Given the description of an element on the screen output the (x, y) to click on. 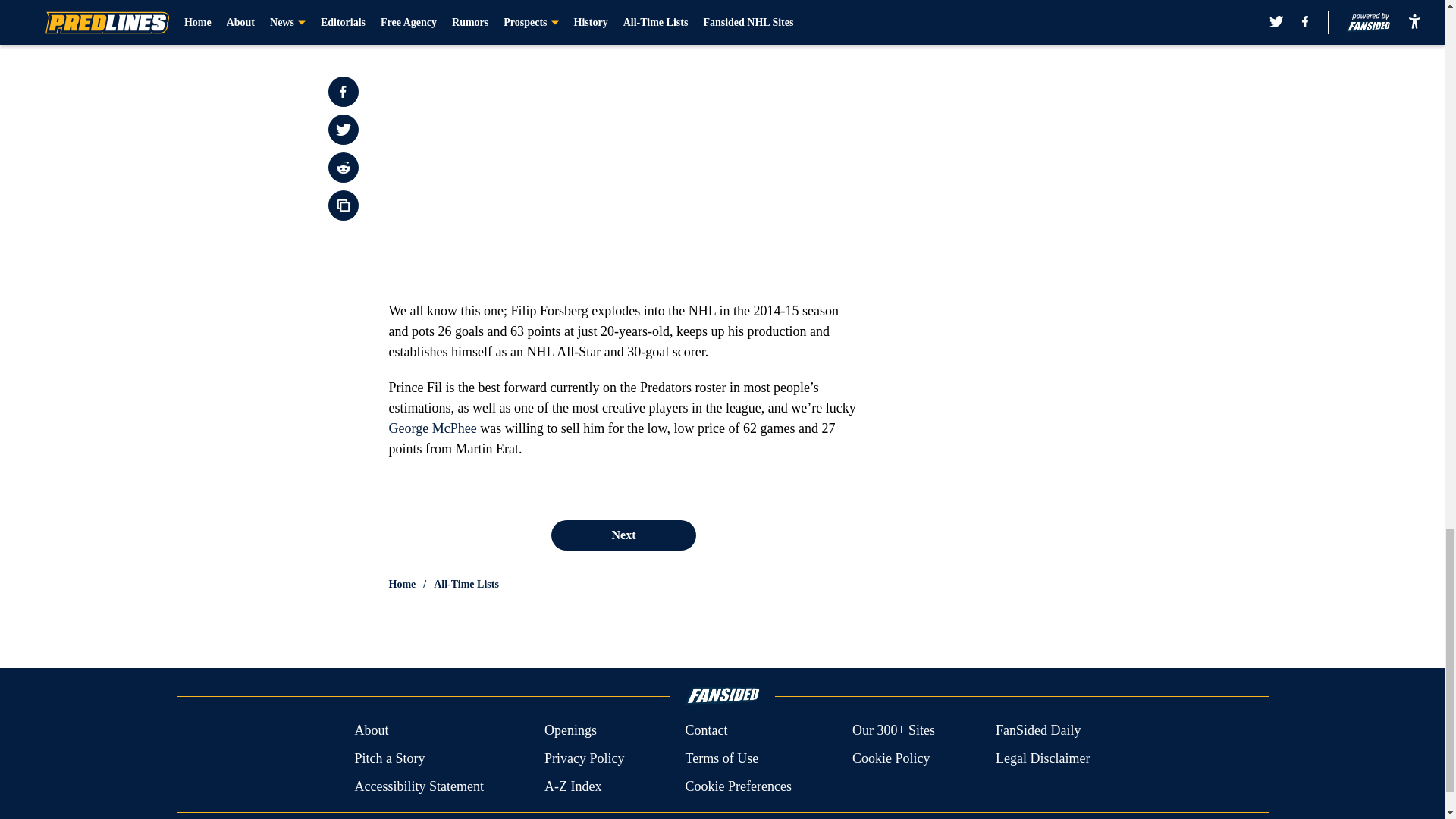
All-Time Lists (466, 584)
George McPhee (432, 427)
About (370, 730)
Next (622, 535)
Openings (570, 730)
Home (401, 584)
Alexander Radulov (531, 37)
